Given the description of an element on the screen output the (x, y) to click on. 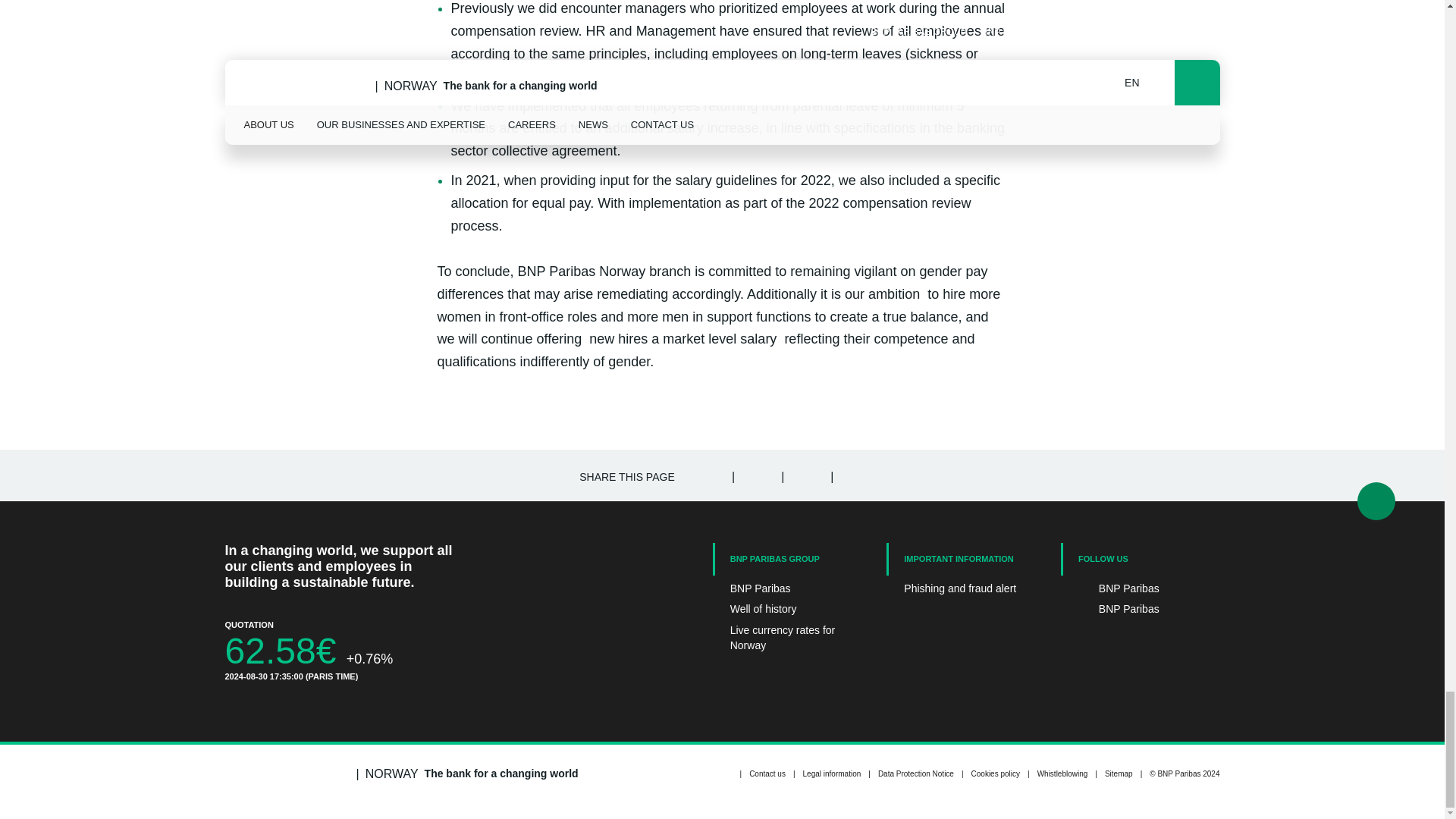
Well of history - New window (792, 609)
BNP Paribas - New window (792, 589)
BNP Paribas - New window (1140, 609)
BNP Paribas - New window (1140, 589)
Share by email (853, 475)
Scroll back to top (1375, 501)
